Given the description of an element on the screen output the (x, y) to click on. 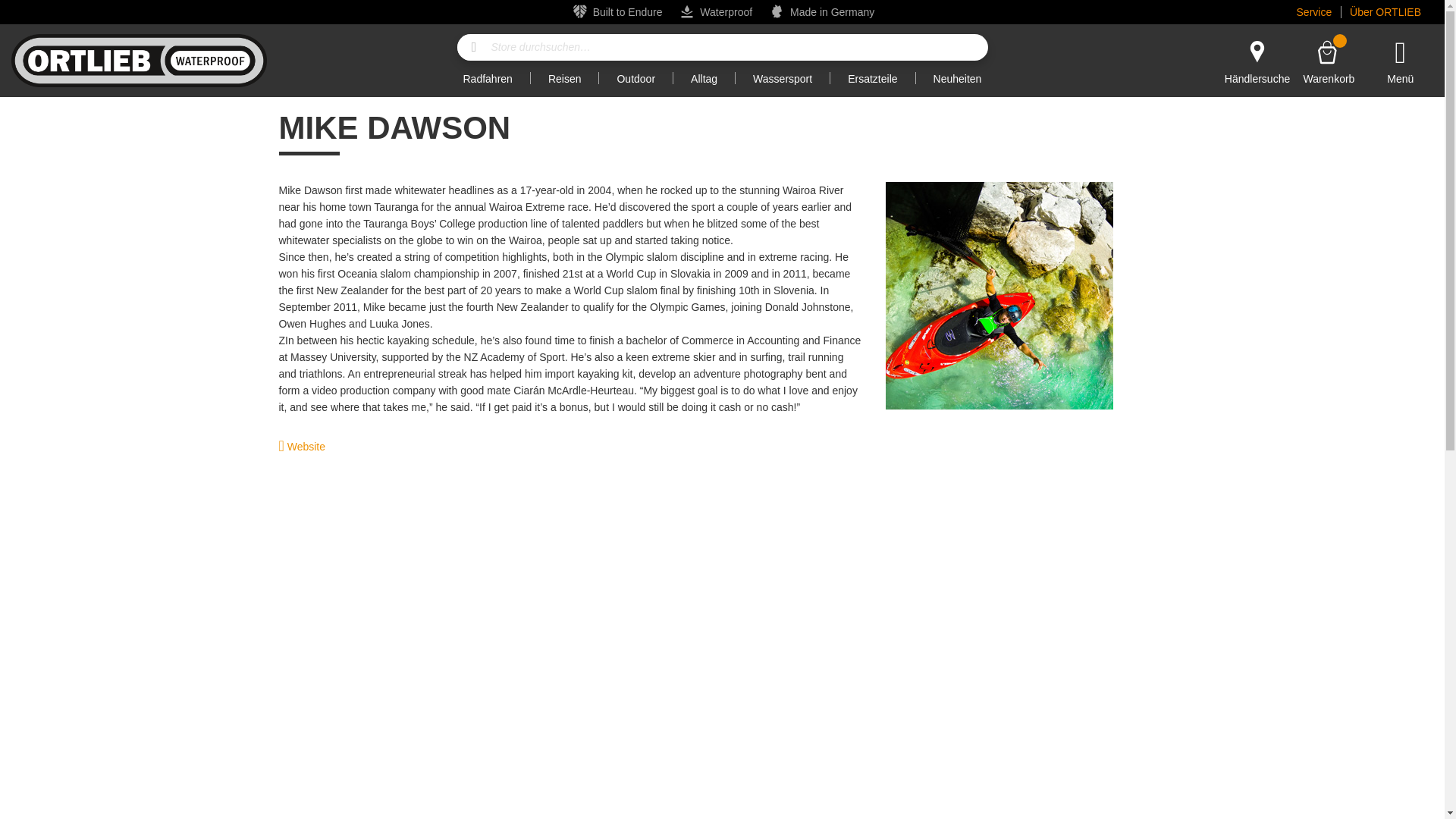
Waterproof (726, 11)
Service (1328, 60)
Ortlieb Logo (1309, 12)
Suchen (138, 60)
Built to Endure (473, 47)
SUCHEN (627, 11)
Made in Germany (473, 47)
